Given the description of an element on the screen output the (x, y) to click on. 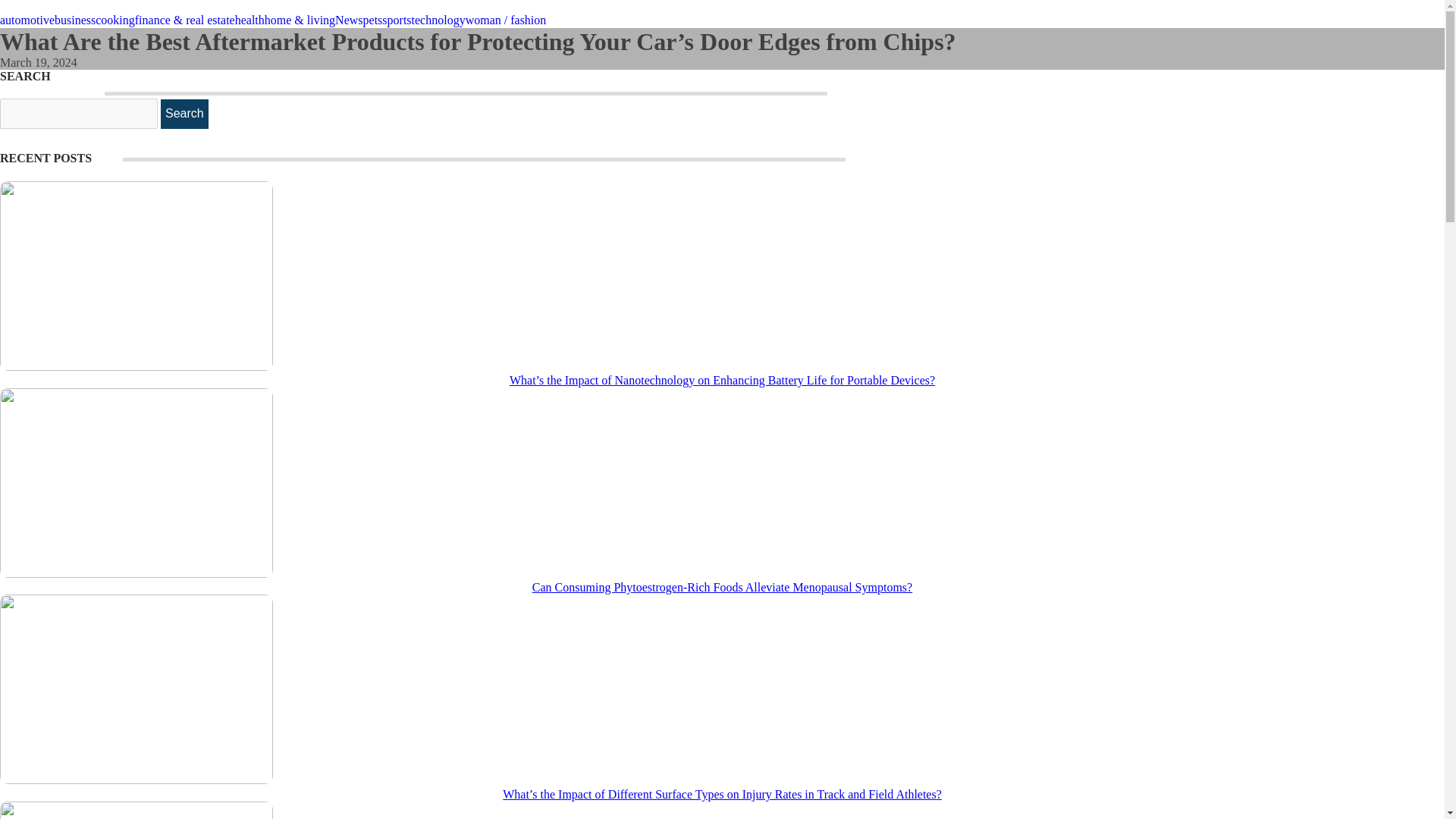
pets (372, 20)
automotive (27, 20)
Search (184, 113)
technology (438, 20)
health (249, 20)
Search (184, 113)
sports (395, 20)
News (348, 20)
cooking (115, 20)
business (75, 20)
